Given the description of an element on the screen output the (x, y) to click on. 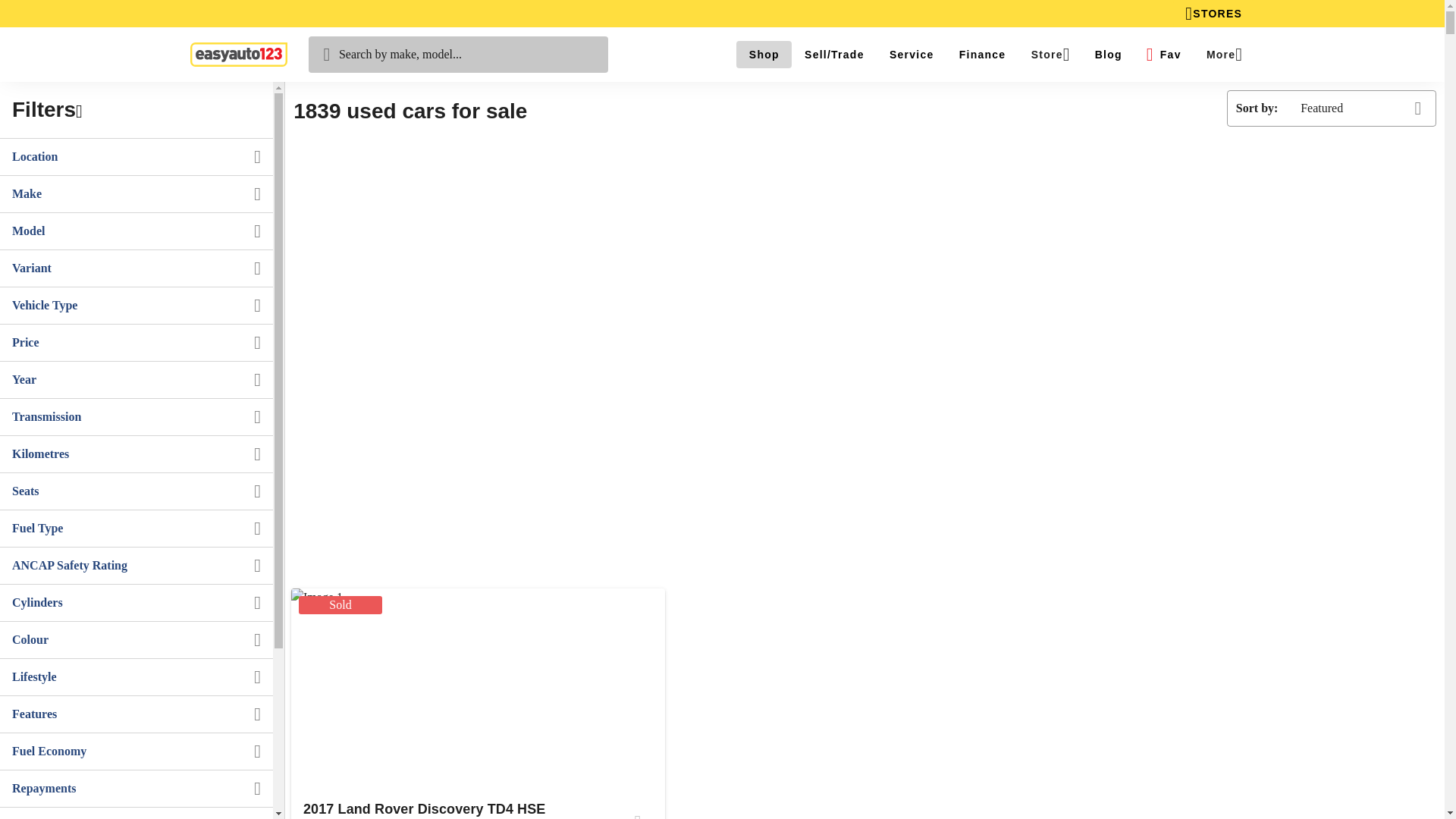
More (1223, 53)
Shop (764, 53)
Store (1049, 53)
Service (911, 53)
STORES (1213, 13)
Fav (1163, 53)
Blog (1107, 53)
Finance (981, 53)
